Given the description of an element on the screen output the (x, y) to click on. 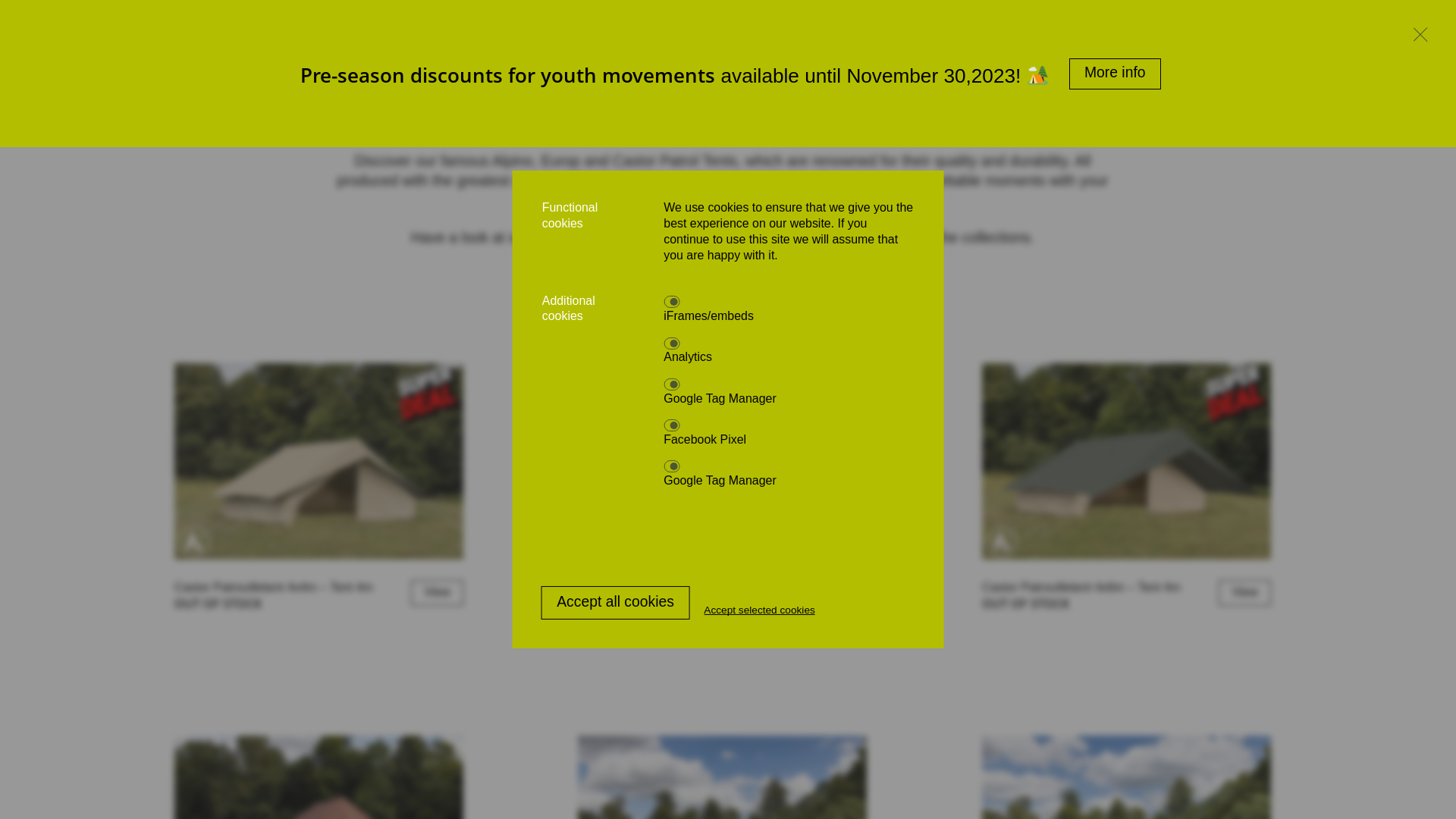
More info Element type: text (1115, 73)
Stories Element type: text (570, 27)
EN Element type: text (1328, 27)
comparison document Element type: text (605, 237)
login Element type: text (1207, 27)
View Element type: text (1244, 592)
View Element type: text (436, 592)
cart
0 Element type: text (1270, 27)
View Element type: text (840, 592)
Accept all cookies Element type: text (615, 602)
Contact Element type: text (638, 27)
Accept selected cookies Element type: text (759, 610)
NL Element type: text (1373, 27)
FR Element type: text (1418, 27)
